Given the description of an element on the screen output the (x, y) to click on. 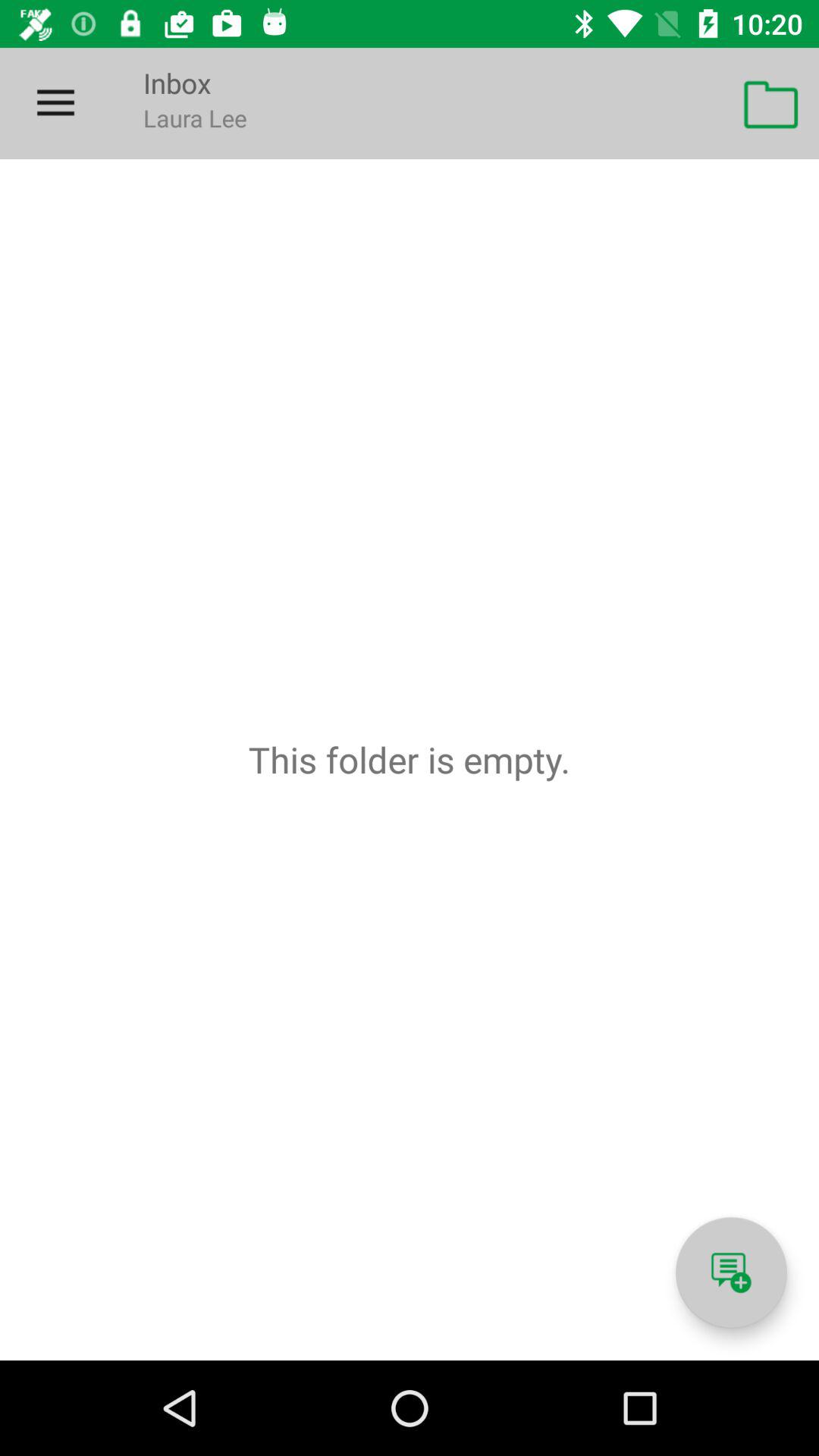
add comment (731, 1272)
